Given the description of an element on the screen output the (x, y) to click on. 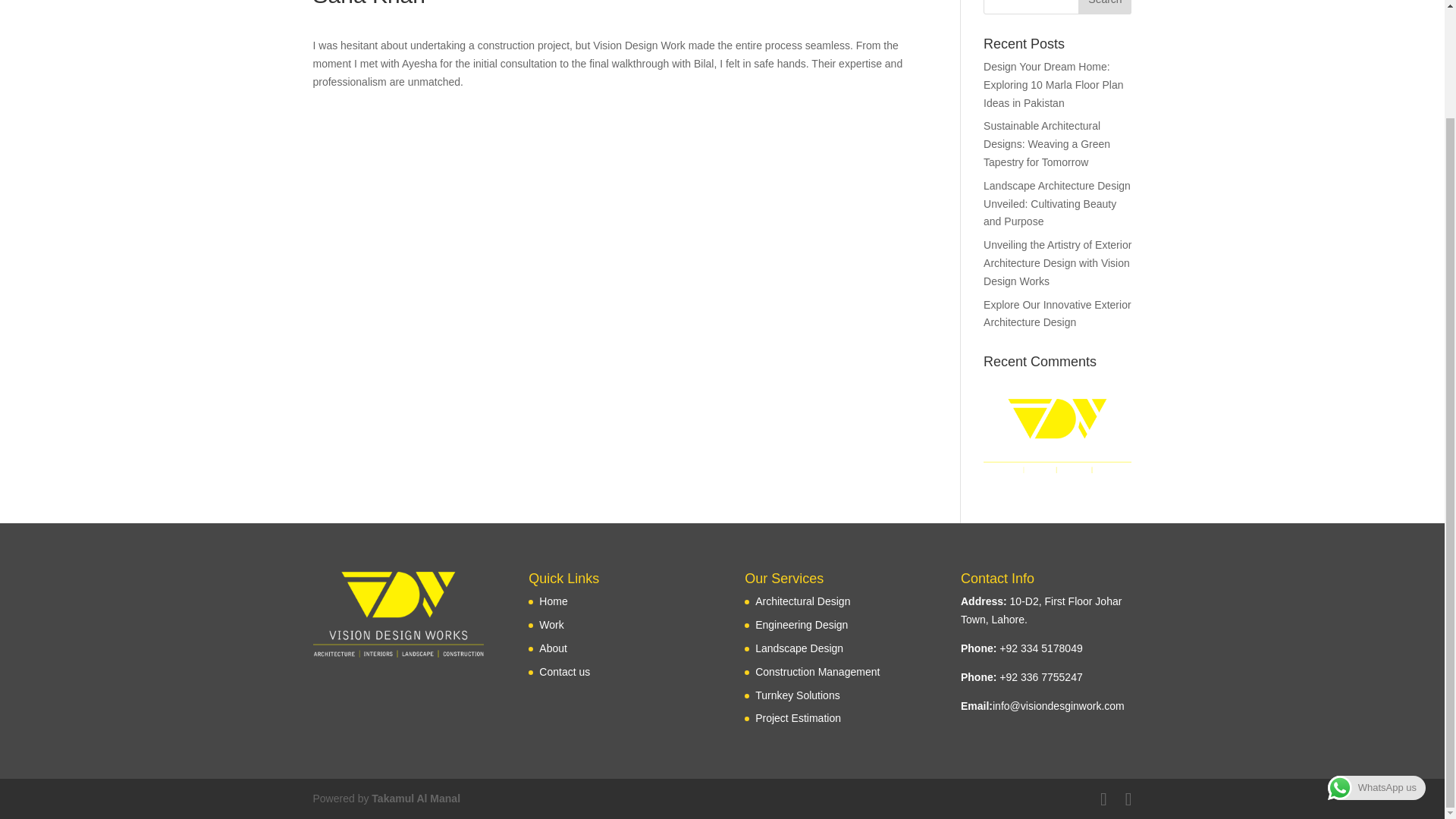
Contact us (563, 671)
Work (550, 624)
Explore Our Innovative Exterior Architecture Design (1057, 313)
Search (1104, 7)
Engineering Design (801, 624)
Architectural Design (802, 601)
Home (552, 601)
Search (1104, 7)
About (552, 648)
